Given the description of an element on the screen output the (x, y) to click on. 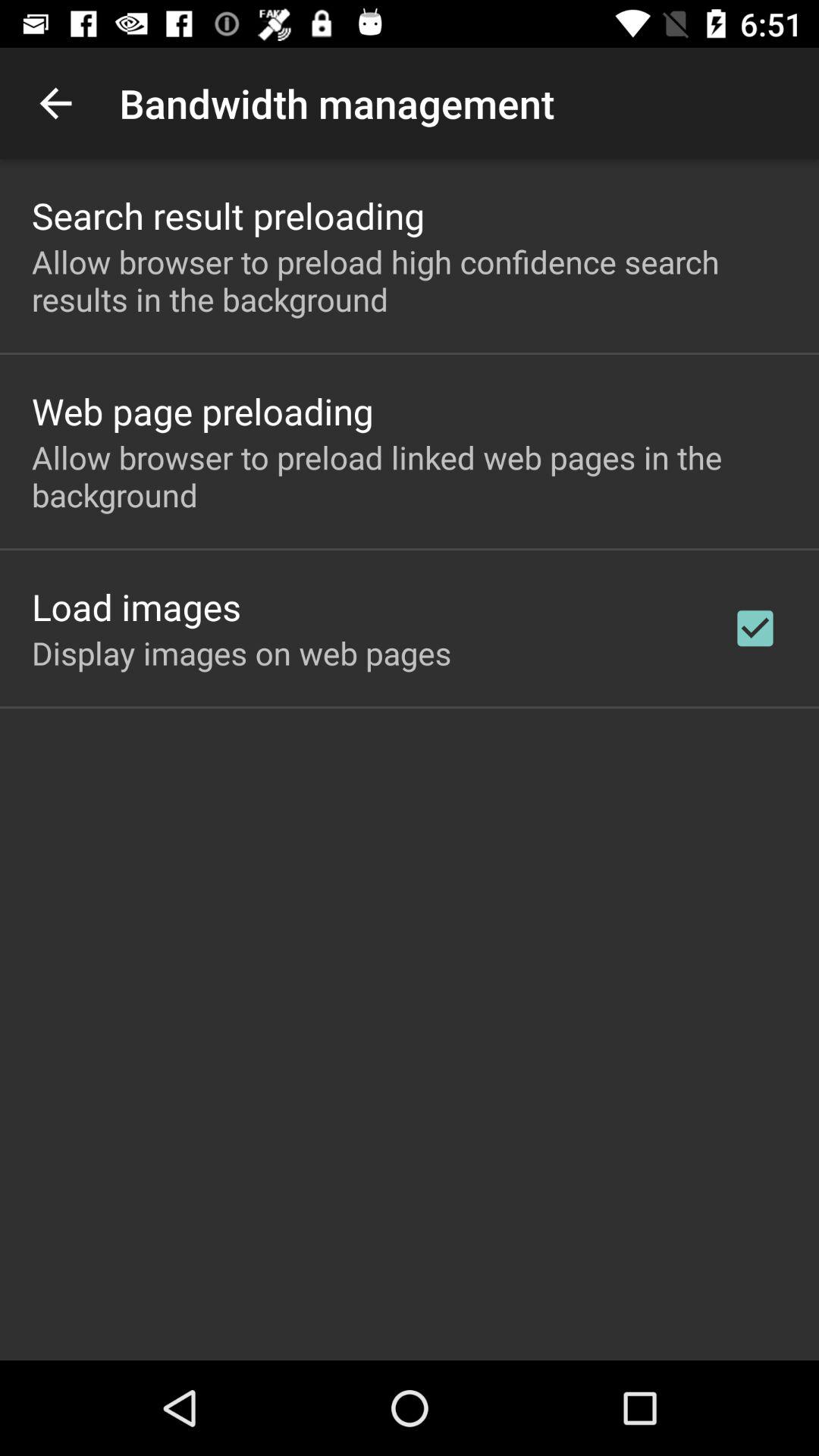
choose icon below the load images (241, 652)
